Given the description of an element on the screen output the (x, y) to click on. 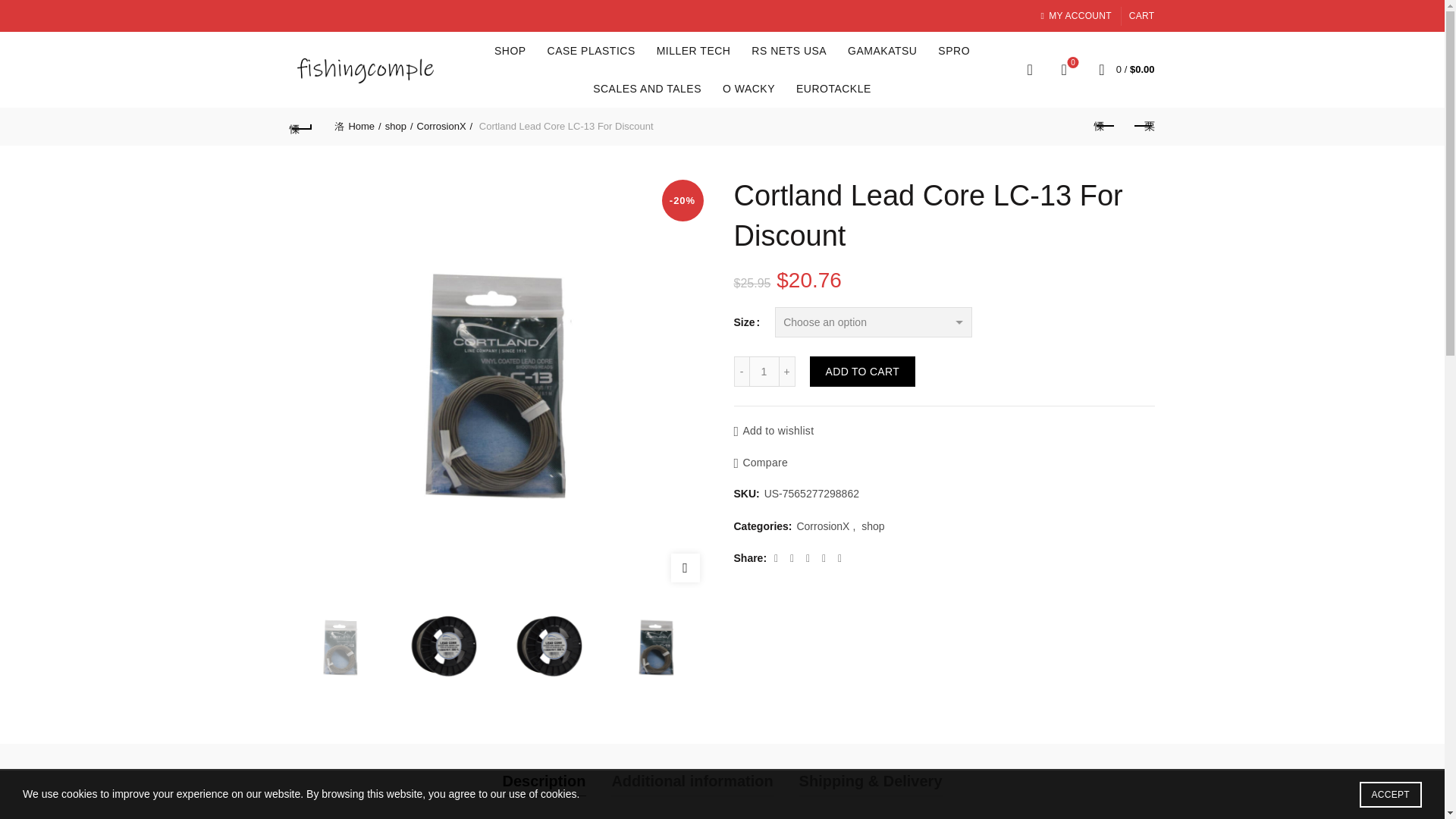
SCALES AND TALES (647, 88)
Qty (763, 371)
Search (30, 45)
MY ACCOUNT (1074, 15)
GAMAKATSU (882, 50)
Back (301, 126)
Previous product (1105, 126)
CorrosionX (444, 125)
Home (357, 125)
SPRO (953, 50)
SHOP (509, 50)
Next product (1142, 126)
RS NETS USA (788, 50)
O WACKY (748, 88)
